Given the description of an element on the screen output the (x, y) to click on. 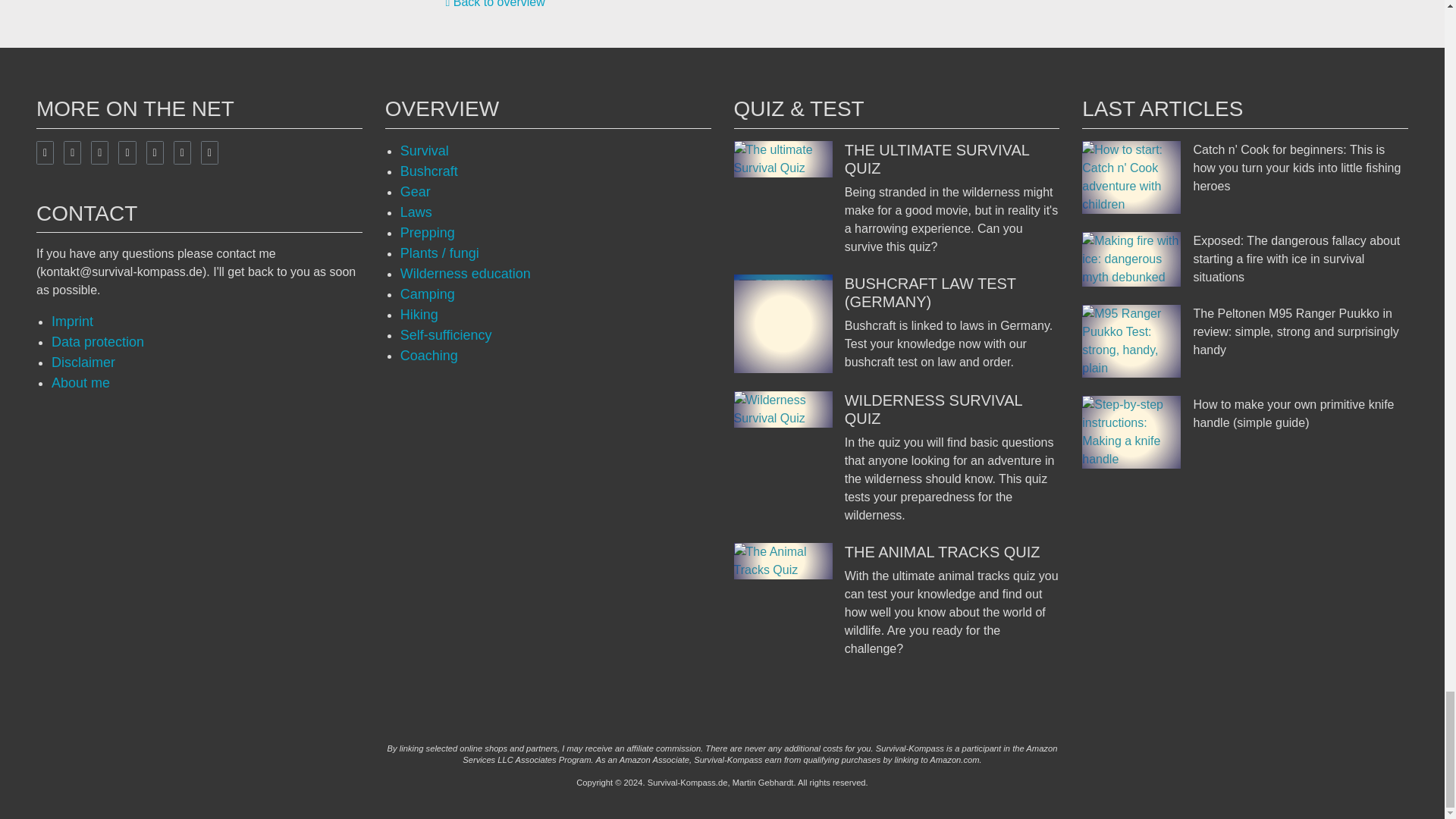
Survival (424, 150)
Data protection (97, 341)
Disclaimer (82, 362)
Imprint (71, 321)
Prepping (427, 232)
About me (80, 382)
Gear (415, 191)
Laws (416, 212)
Bushcraft (429, 171)
Back to overview (494, 4)
